Given the description of an element on the screen output the (x, y) to click on. 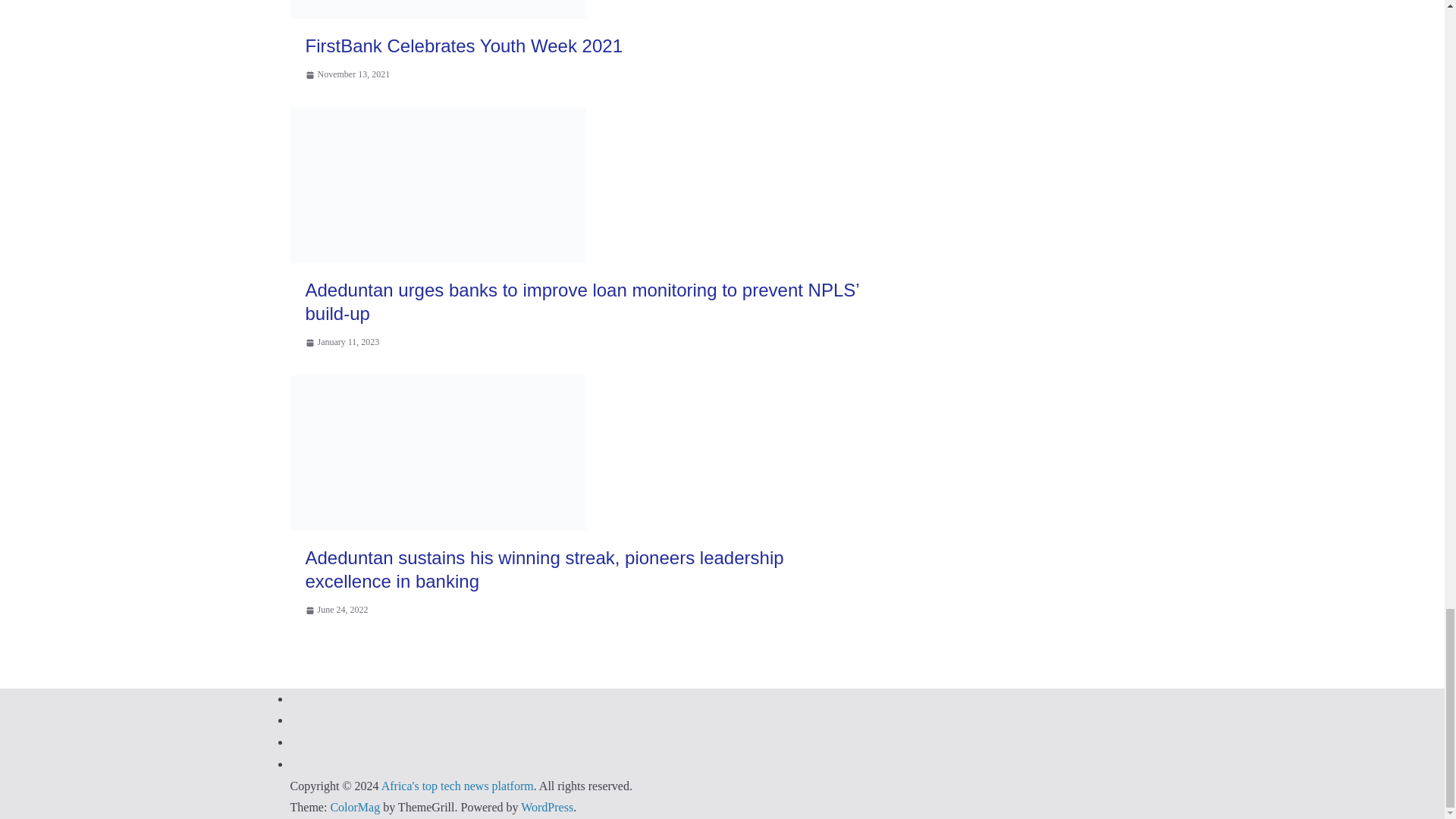
11:15 am (347, 74)
November 13, 2021 (347, 74)
January 11, 2023 (341, 342)
11:08 pm (341, 342)
FirstBank Celebrates Youth Week 2021 (462, 46)
FirstBank Celebrates Youth Week 2021 (462, 46)
7:55 pm (336, 610)
